Given the description of an element on the screen output the (x, y) to click on. 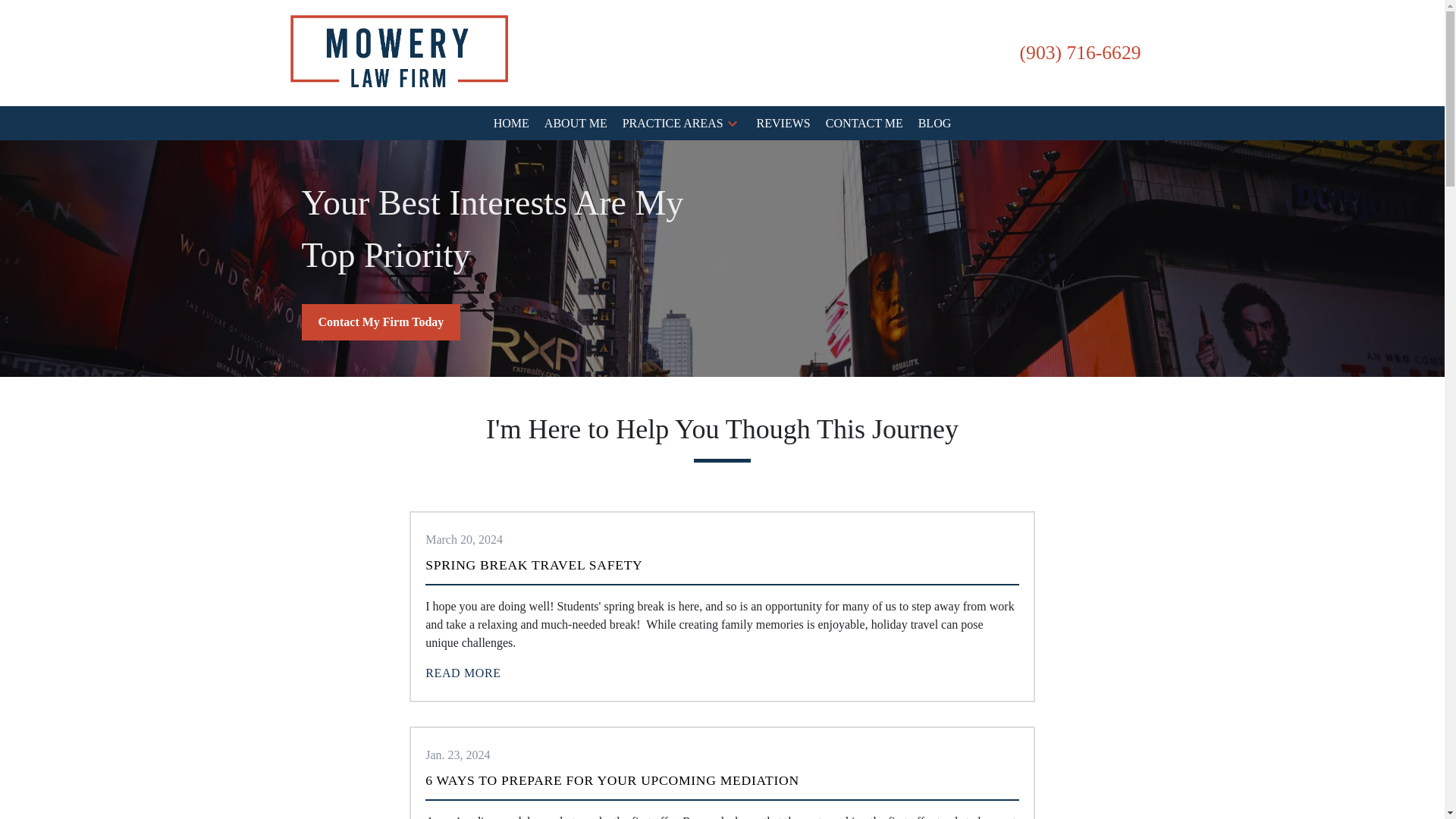
Contact My Firm Today (381, 321)
PRACTICE AREAS (673, 123)
ABOUT ME (575, 123)
SPRING BREAK TRAVEL SAFETY (533, 563)
REVIEWS (783, 123)
6 WAYS TO PREPARE FOR YOUR UPCOMING MEDIATION (612, 780)
HOME (511, 123)
CONTACT ME (863, 123)
READ MORE (462, 672)
BLOG (935, 123)
